Given the description of an element on the screen output the (x, y) to click on. 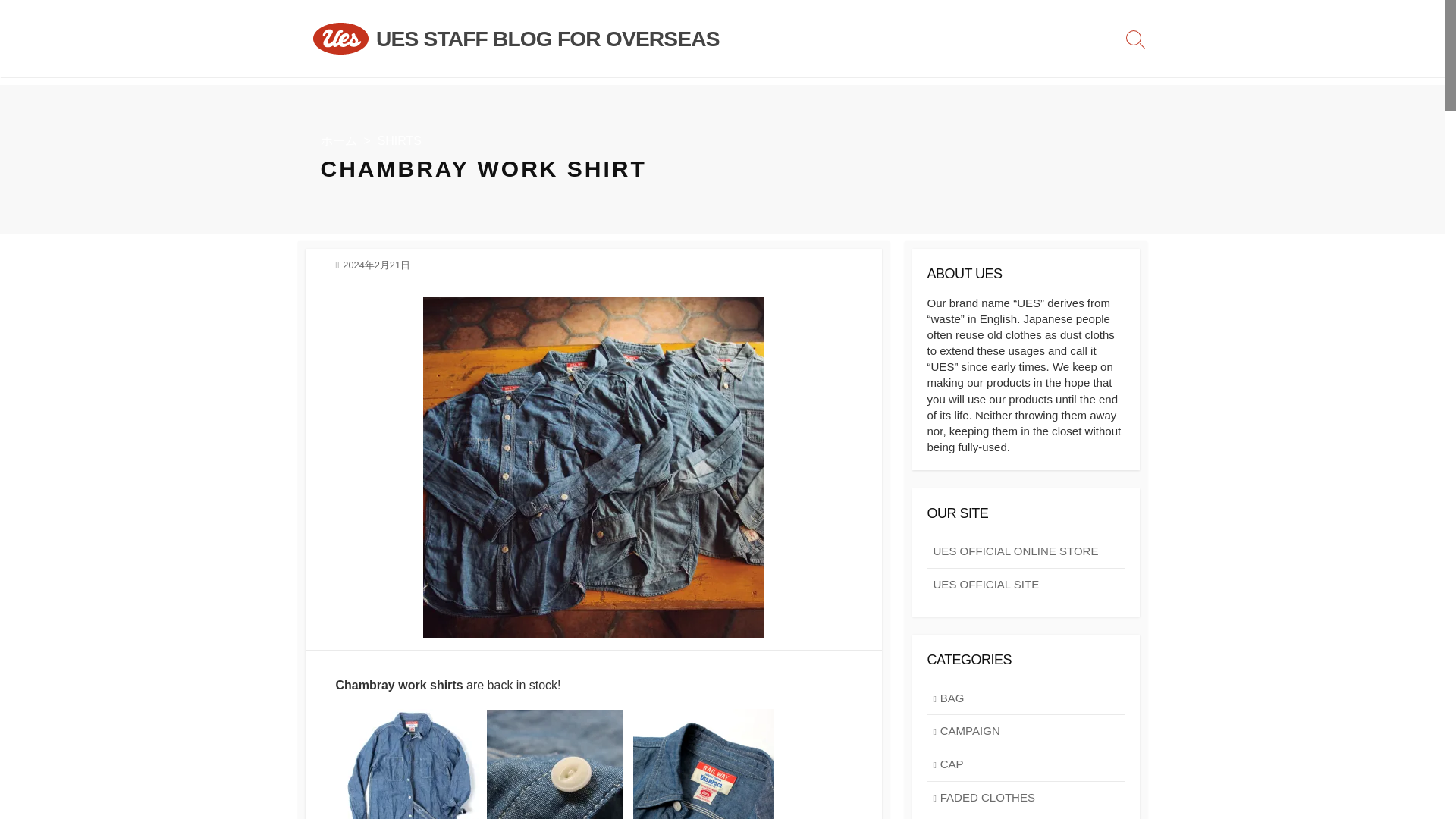
CAMPAIGN (1025, 731)
UES OFFICIAL ONLINE STORE (1025, 551)
FADED CLOTHES (1025, 798)
GOODS (1025, 816)
UES STAFF BLOG FOR OVERSEAS (340, 38)
UES STAFF BLOG FOR OVERSEAS (547, 38)
CAP (1025, 765)
SHIRTS (399, 140)
UES OFFICIAL SITE (1025, 584)
UES STAFF BLOG FOR OVERSEAS (547, 38)
BAG (1025, 698)
